Given the description of an element on the screen output the (x, y) to click on. 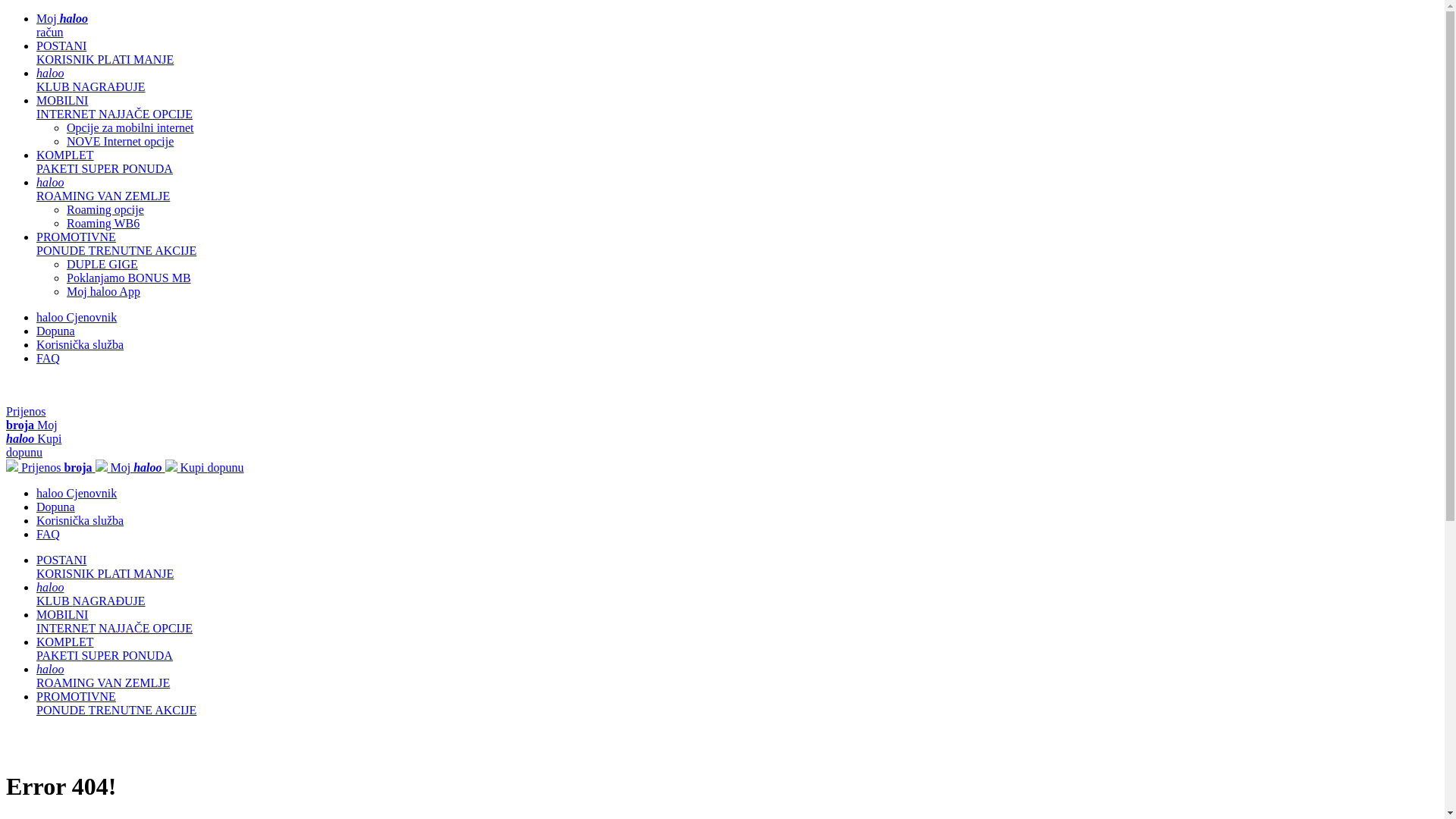
Dopuna Element type: text (55, 506)
Kupi
dopunu Element type: text (33, 445)
Prijenos
broja Element type: text (25, 417)
NOVE Internet opcije Element type: text (119, 140)
Dopuna Element type: text (55, 330)
Roaming opcije Element type: text (105, 209)
haloo
ROAMING VAN ZEMLJE Element type: text (102, 188)
Poklanjamo BONUS MB Element type: text (128, 277)
KOMPLET
PAKETI SUPER PONUDA Element type: text (104, 648)
POSTANI
KORISNIK PLATI MANJE Element type: text (104, 566)
POSTANI
KORISNIK PLATI MANJE Element type: text (104, 52)
DUPLE GIGE Element type: text (102, 263)
Roaming WB6 Element type: text (102, 222)
haloo Cjenovnik Element type: text (76, 492)
Kupi dopunu Element type: text (204, 467)
Moj haloo Element type: text (130, 467)
FAQ Element type: text (47, 533)
haloo
ROAMING VAN ZEMLJE Element type: text (102, 675)
Opcije za mobilni internet Element type: text (130, 127)
Moj haloo App Element type: text (103, 291)
haloo Cjenovnik Element type: text (76, 316)
FAQ Element type: text (47, 357)
PROMOTIVNE
PONUDE TRENUTNE AKCIJE Element type: text (116, 243)
Prijenos broja Element type: text (50, 467)
Moj
haloo Element type: text (31, 431)
PROMOTIVNE
PONUDE TRENUTNE AKCIJE Element type: text (116, 703)
KOMPLET
PAKETI SUPER PONUDA Element type: text (104, 161)
